Given the description of an element on the screen output the (x, y) to click on. 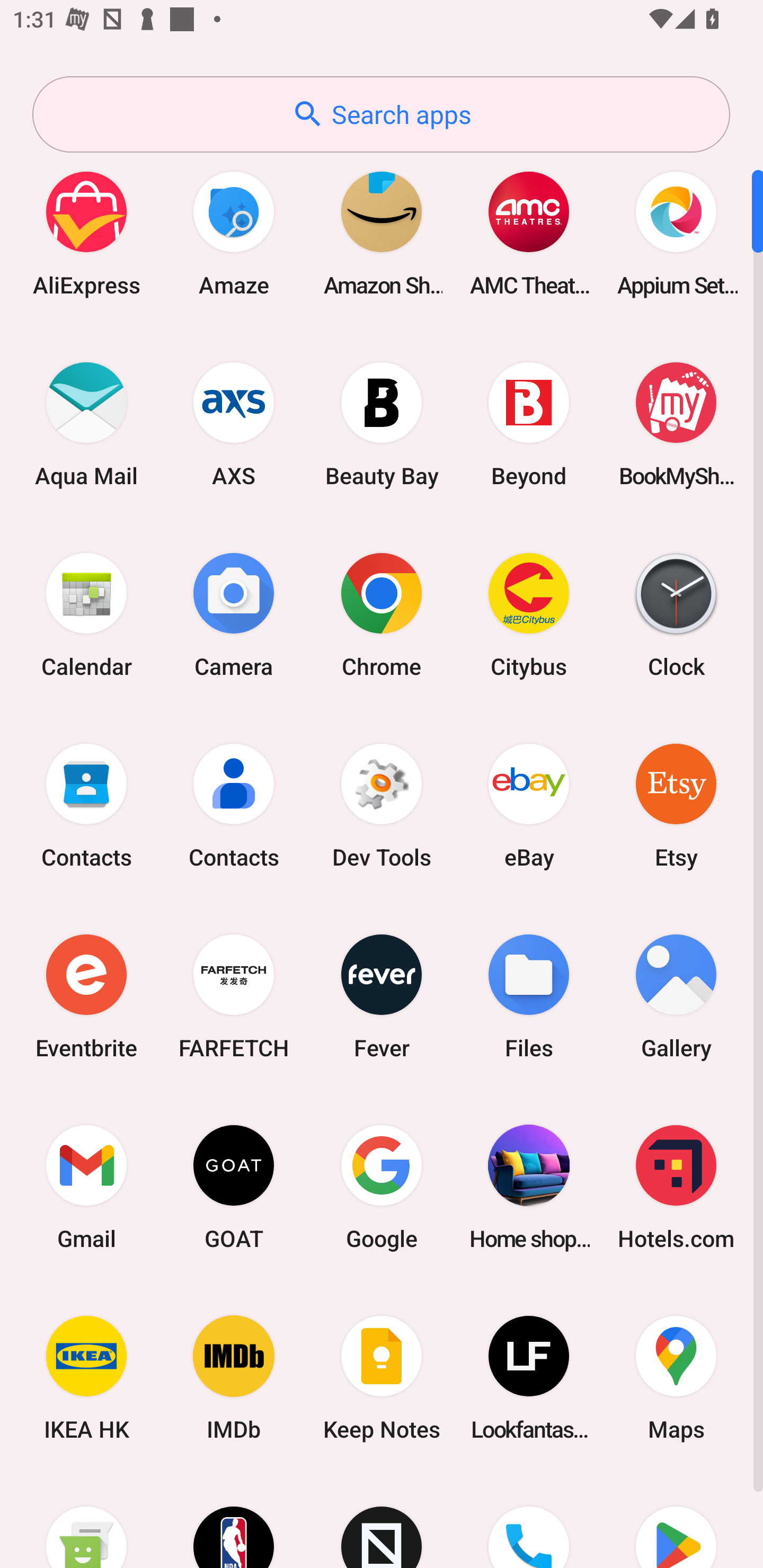
  Search apps (381, 114)
AliExpress (86, 233)
Amaze (233, 233)
Amazon Shopping (381, 233)
AMC Theatres (528, 233)
Appium Settings (676, 233)
Aqua Mail (86, 424)
AXS (233, 424)
Beauty Bay (381, 424)
Beyond (528, 424)
BookMyShow (676, 424)
Calendar (86, 614)
Camera (233, 614)
Chrome (381, 614)
Citybus (528, 614)
Clock (676, 614)
Contacts (86, 805)
Contacts (233, 805)
Dev Tools (381, 805)
eBay (528, 805)
Etsy (676, 805)
Eventbrite (86, 996)
FARFETCH (233, 996)
Fever (381, 996)
Files (528, 996)
Gallery (676, 996)
Gmail (86, 1186)
GOAT (233, 1186)
Google (381, 1186)
Home shopping (528, 1186)
Hotels.com (676, 1186)
IKEA HK (86, 1377)
IMDb (233, 1377)
Keep Notes (381, 1377)
Lookfantastic (528, 1377)
Maps (676, 1377)
Messaging (86, 1520)
NBA (233, 1520)
Novelship (381, 1520)
Phone (528, 1520)
Play Store (676, 1520)
